Given the description of an element on the screen output the (x, y) to click on. 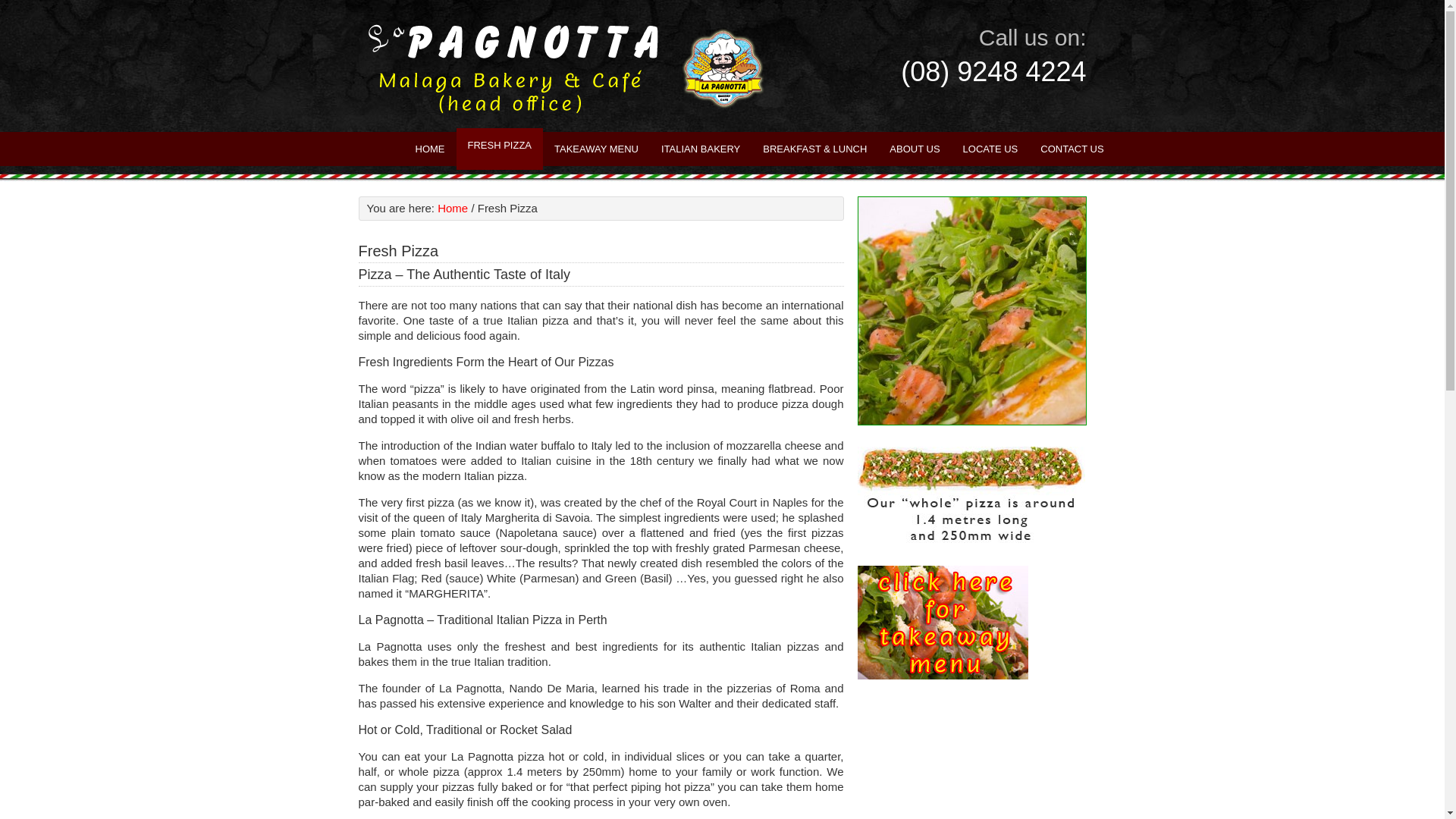
LOCATE US Element type: text (990, 148)
TAKEAWAY MENU Element type: text (595, 148)
BREAKFAST & LUNCH Element type: text (814, 148)
ABOUT US Element type: text (914, 148)
HOME Element type: text (429, 148)
ITALIAN BAKERY Element type: text (700, 148)
Home Element type: text (452, 207)
FRESH PIZZA Element type: text (499, 148)
LaPagnotta Italian Bakery & Cafe Element type: text (566, 65)
CONTACT US Element type: text (1071, 148)
